Given the description of an element on the screen output the (x, y) to click on. 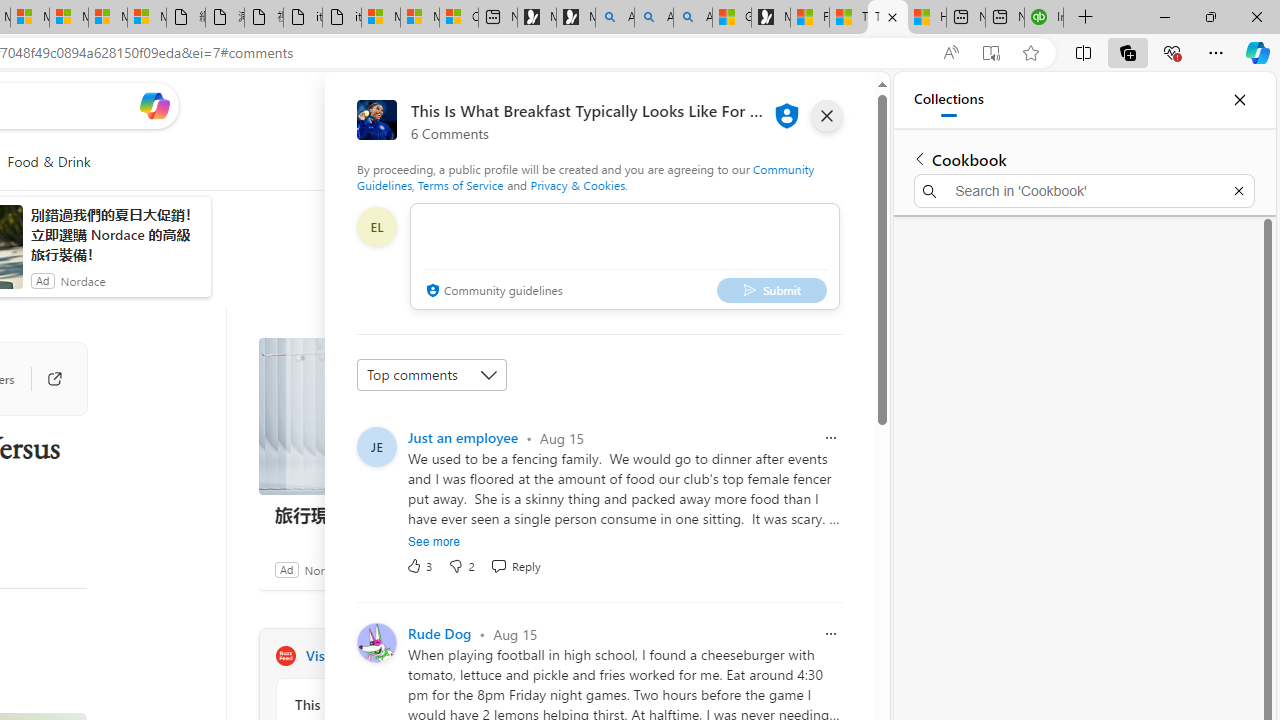
close (827, 115)
Sort comments by (431, 374)
Reply Reply Comment (515, 565)
Profile Picture (376, 642)
How to Use a TV as a Computer Monitor (926, 17)
Exit search (1238, 190)
Community Guidelines (586, 176)
